Given the description of an element on the screen output the (x, y) to click on. 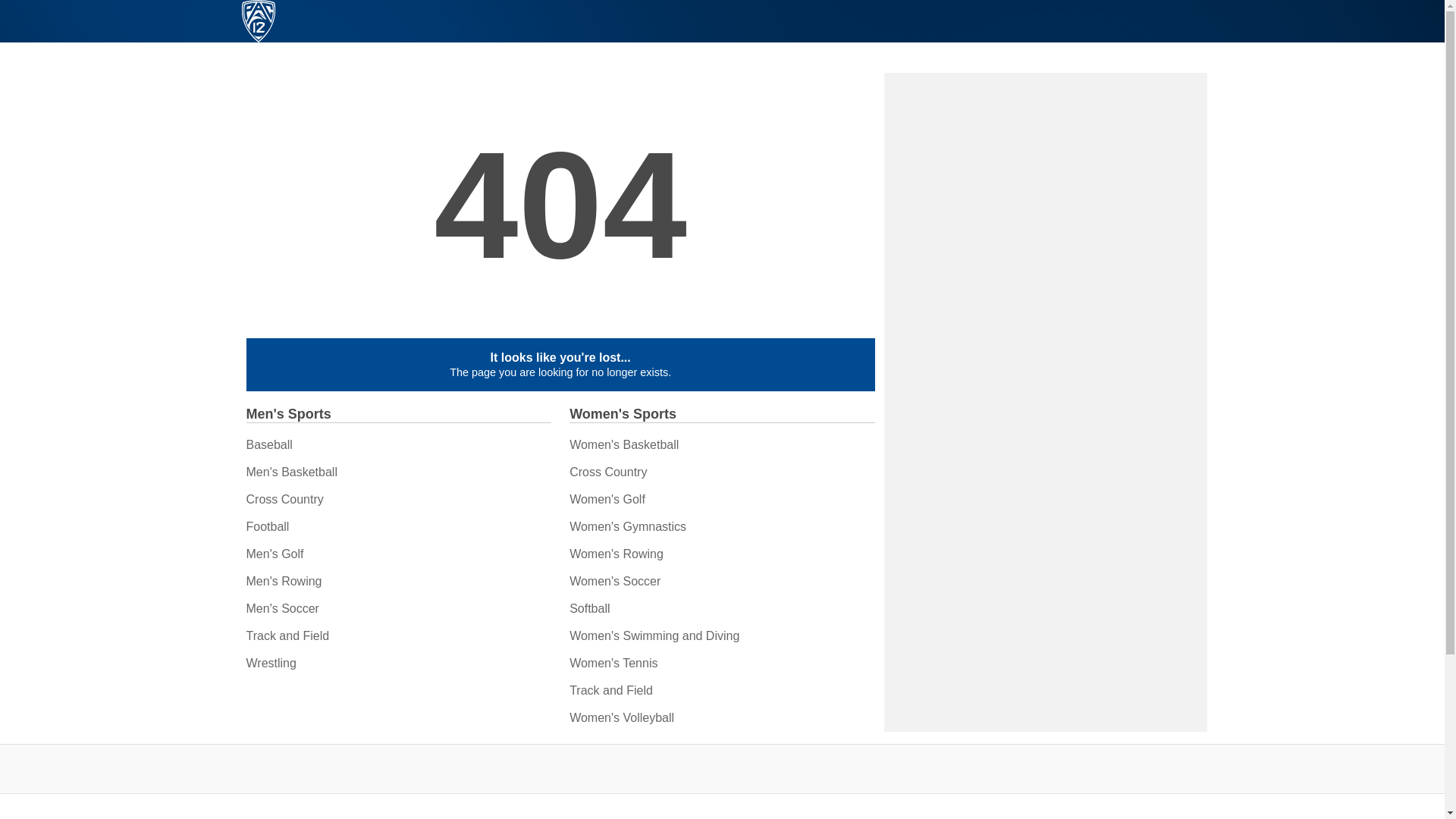
Men's Soccer (282, 608)
Baseball (269, 444)
Men's Rowing (283, 581)
Men's Basketball (291, 472)
Men's Golf (274, 553)
Cross Country (284, 499)
Football (267, 526)
Track and Field (287, 635)
